Given the description of an element on the screen output the (x, y) to click on. 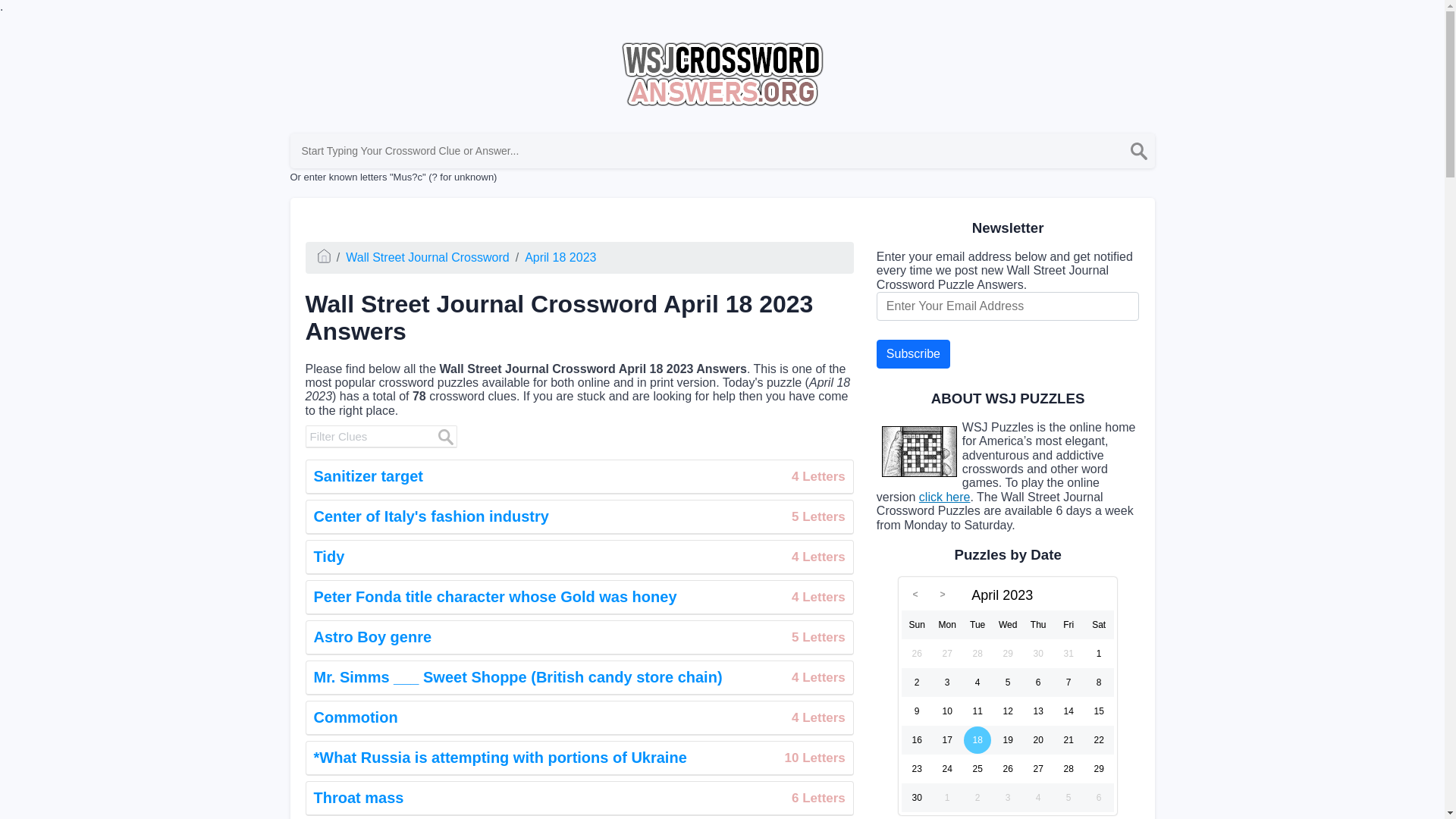
Wall Street Journal Crossword (578, 516)
April 18 2023 (427, 256)
Subscribe (578, 718)
